Given the description of an element on the screen output the (x, y) to click on. 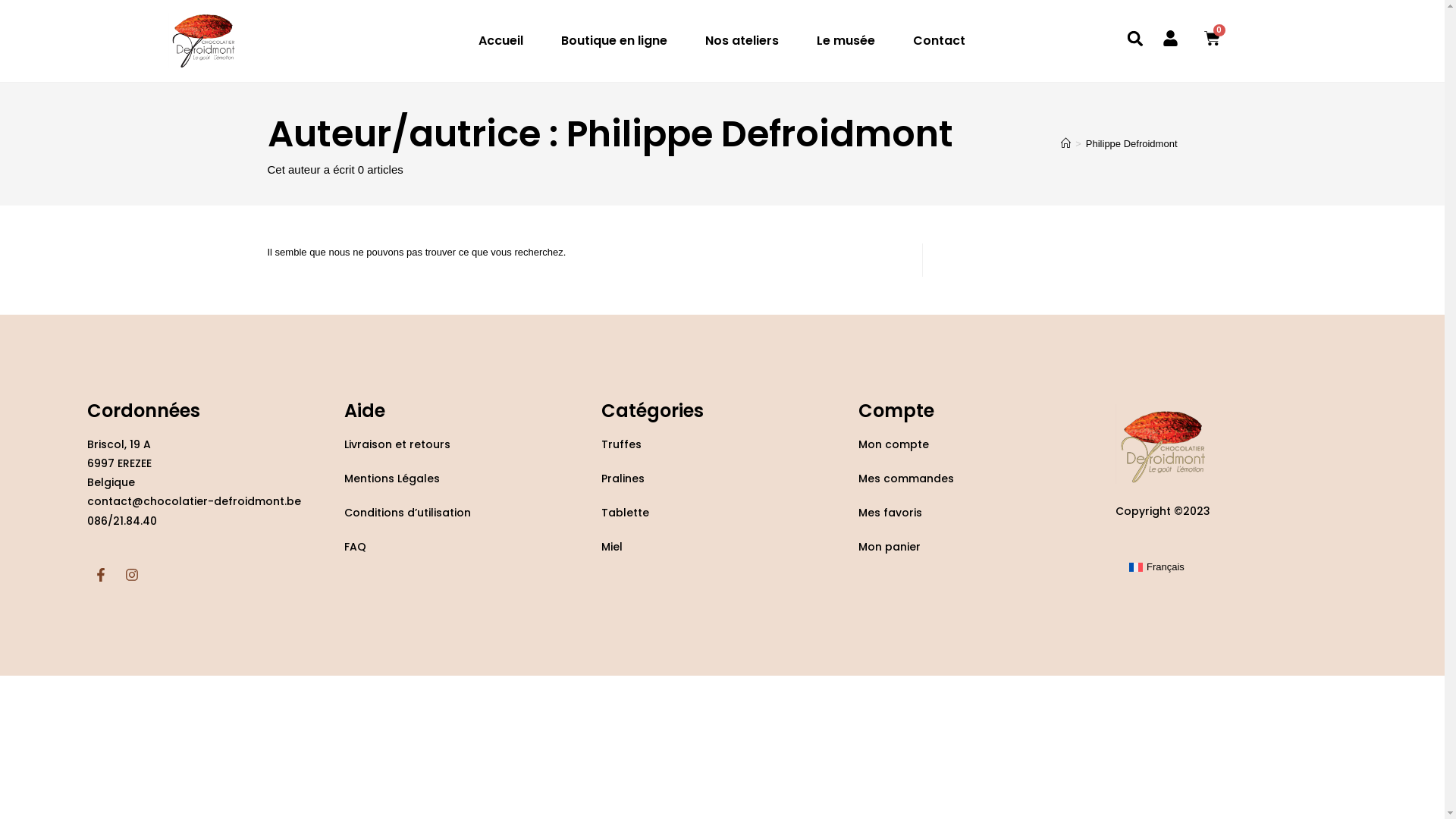
Tablette Element type: text (625, 512)
Philippe Defroidmont Element type: text (1131, 143)
Contact Element type: text (939, 40)
Mes commandes Element type: text (905, 478)
Nos ateliers Element type: text (741, 40)
Mon compte Element type: text (893, 443)
Accueil Element type: text (500, 40)
Mon panier Element type: text (889, 546)
0 Element type: text (1212, 38)
Boutique en ligne Element type: text (614, 40)
contact@chocolatier-defroidmont.be Element type: text (194, 500)
Pralines Element type: text (622, 478)
